Given the description of an element on the screen output the (x, y) to click on. 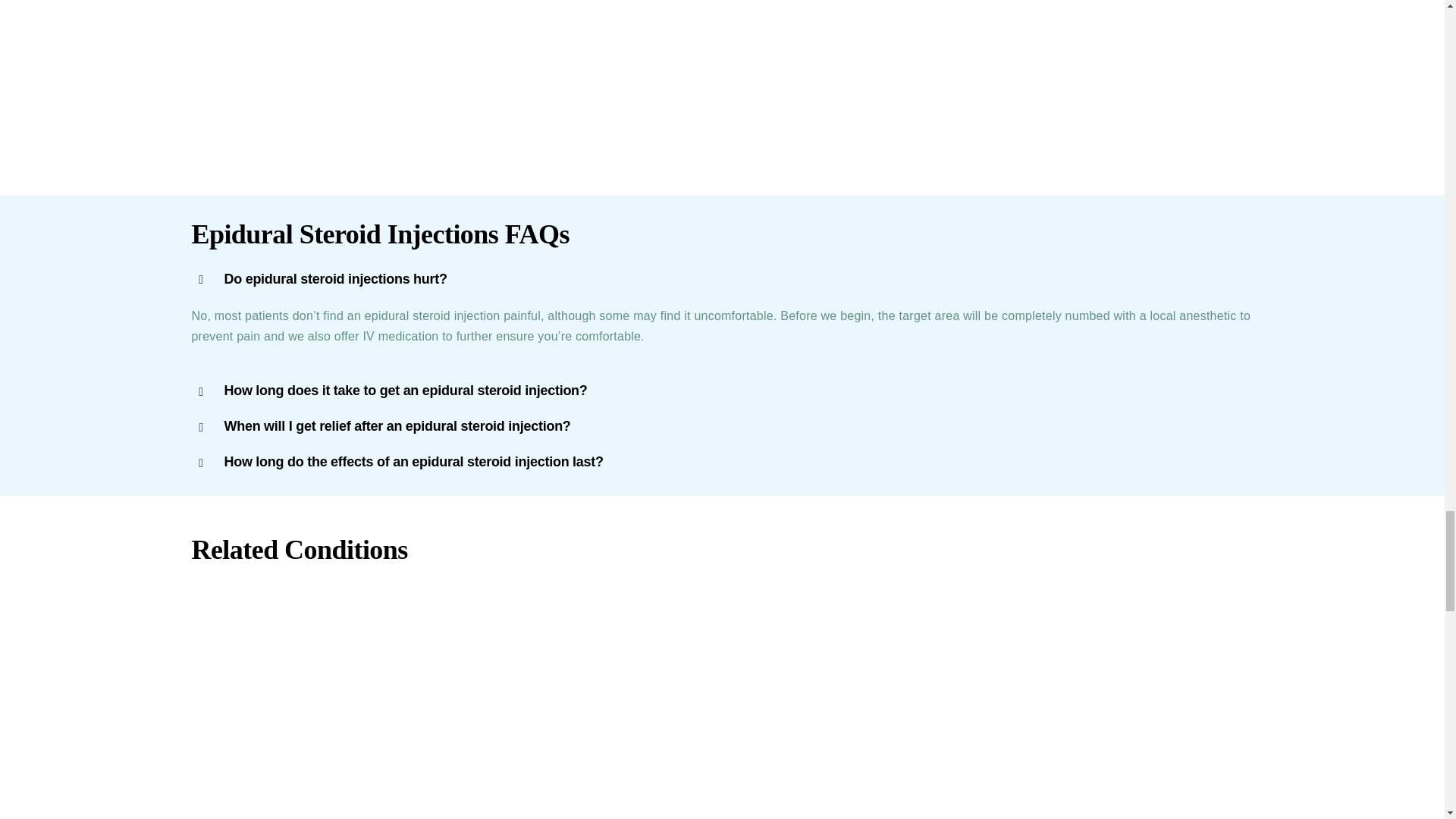
ViewMedica Video Player (997, 82)
ViewMedica Video Player (445, 82)
